Given the description of an element on the screen output the (x, y) to click on. 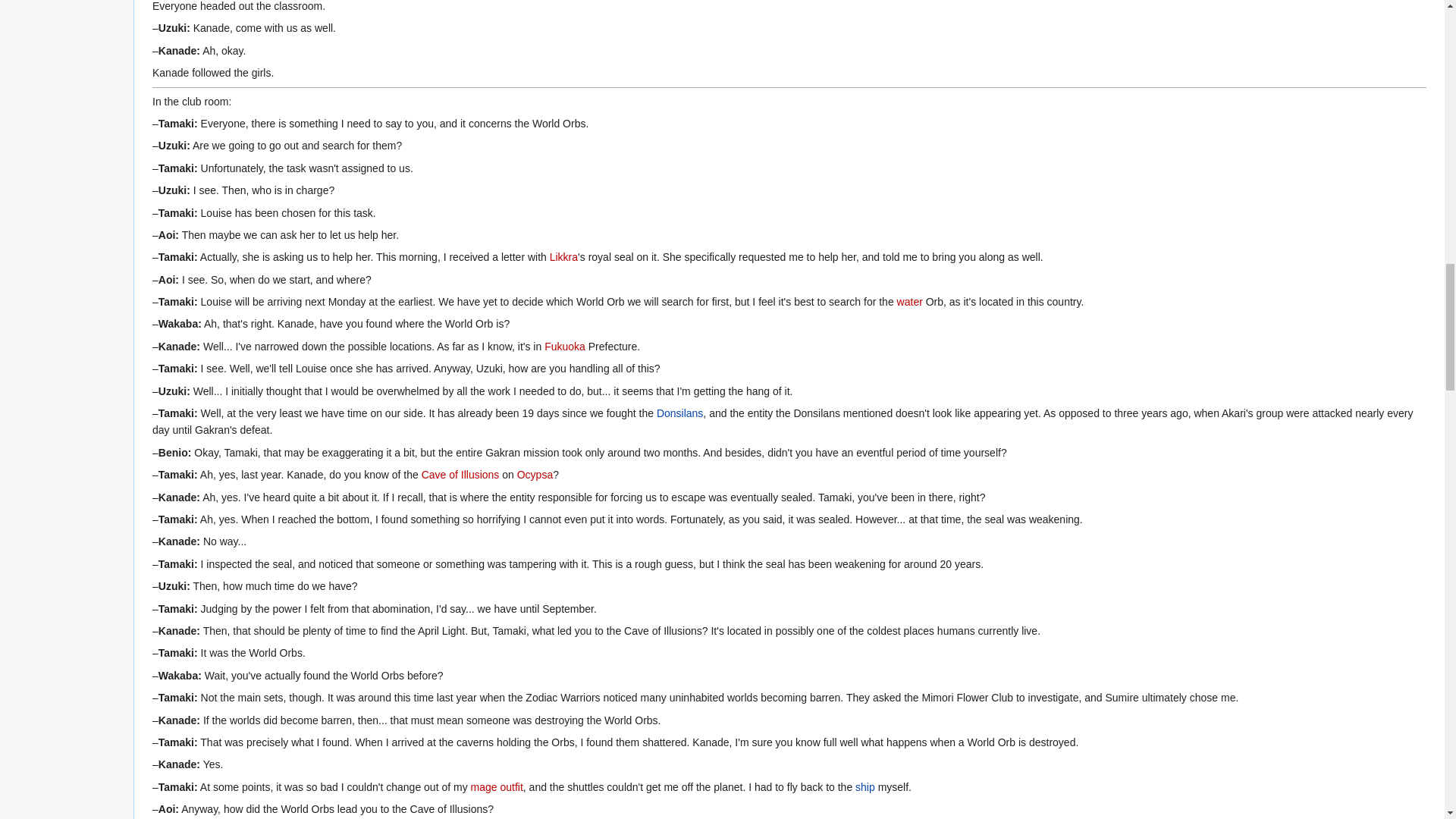
Fukuoka (564, 346)
Cave of Illusions (460, 474)
Likkra (564, 256)
water (909, 301)
mage outfit (496, 787)
ship (865, 787)
Ocypsa (534, 474)
Donsilans (679, 413)
